Given the description of an element on the screen output the (x, y) to click on. 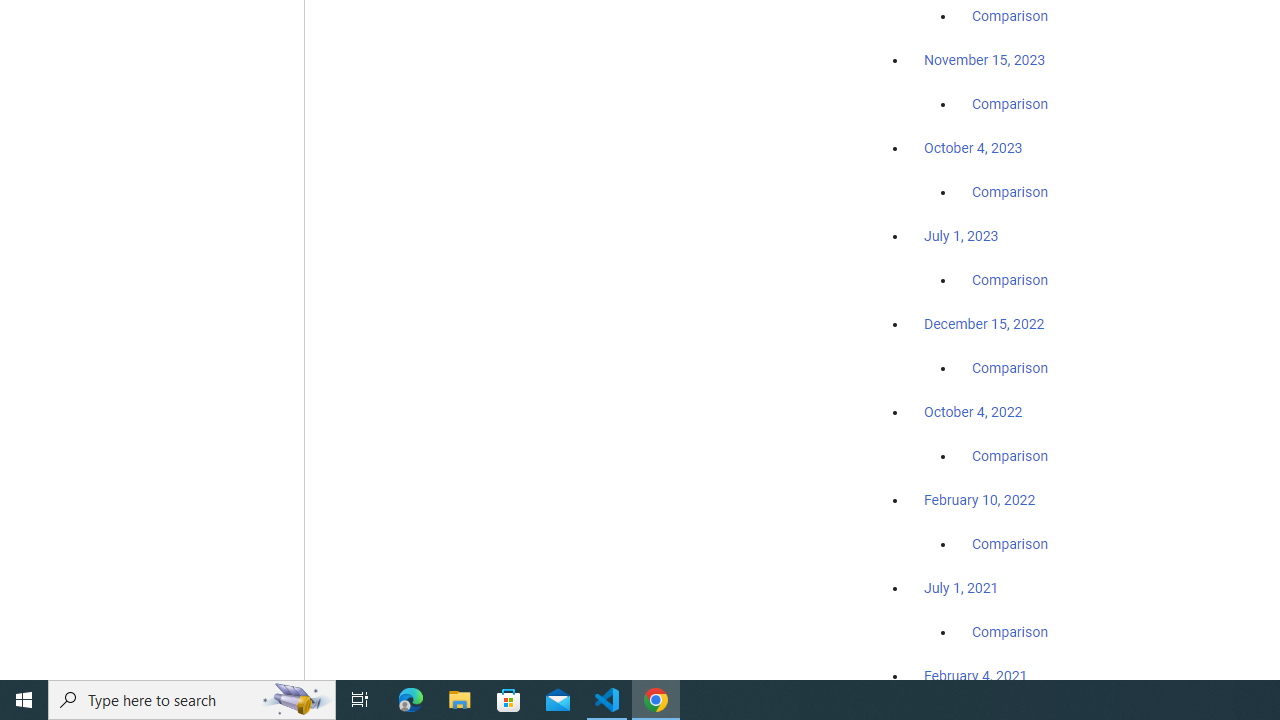
December 15, 2022 (984, 323)
July 1, 2023 (961, 236)
October 4, 2023 (973, 148)
October 4, 2022 (973, 412)
February 10, 2022 (979, 500)
February 4, 2021 (975, 675)
July 1, 2021 (961, 587)
Comparison (1009, 631)
November 15, 2023 (984, 60)
